Given the description of an element on the screen output the (x, y) to click on. 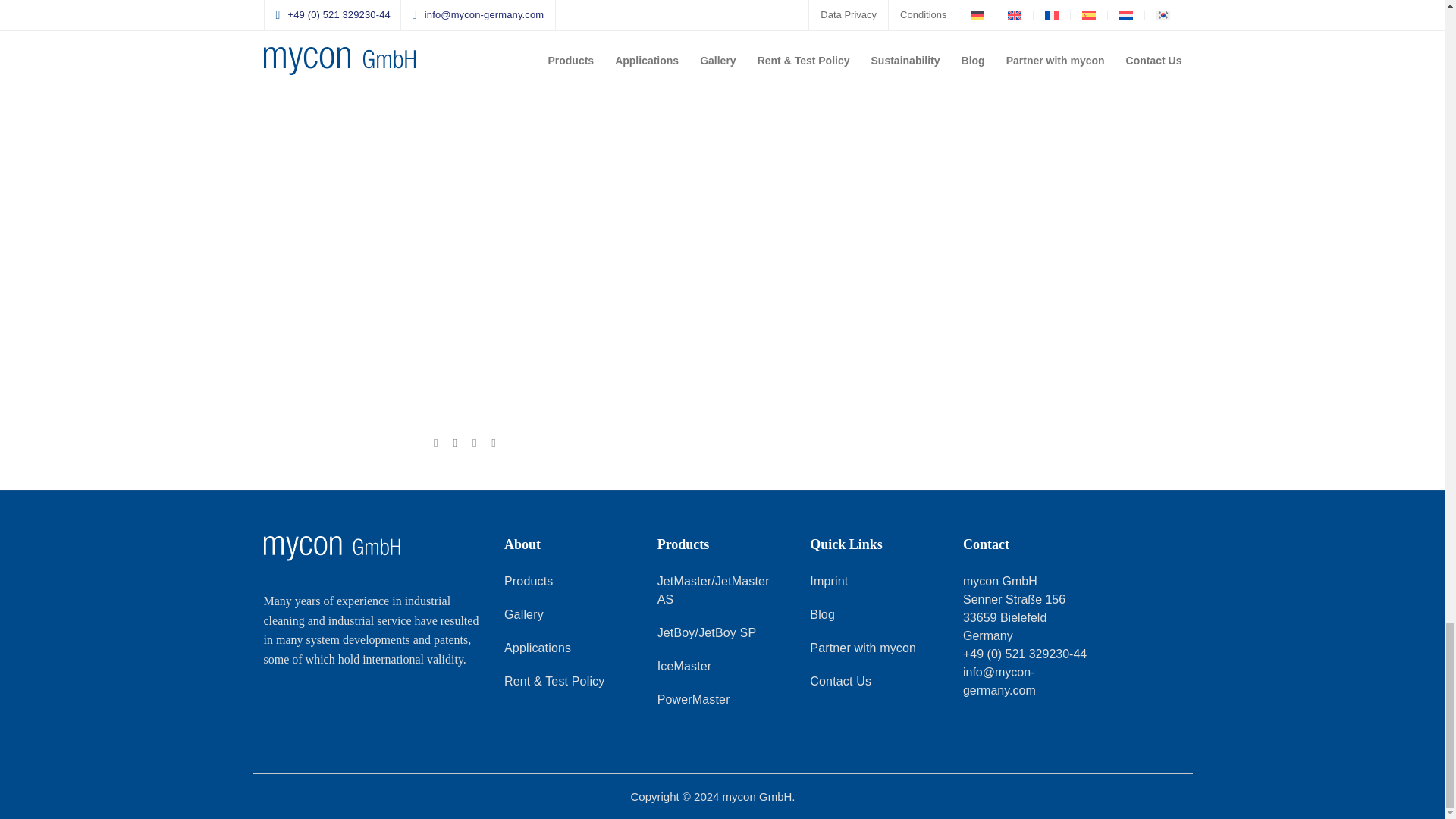
Blog (821, 616)
Contact Us (839, 683)
Partner with mycon (862, 650)
Applications (536, 650)
Gallery (523, 616)
IceMaster (684, 668)
PowerMaster (694, 701)
Products (528, 583)
Imprint (828, 583)
